Given the description of an element on the screen output the (x, y) to click on. 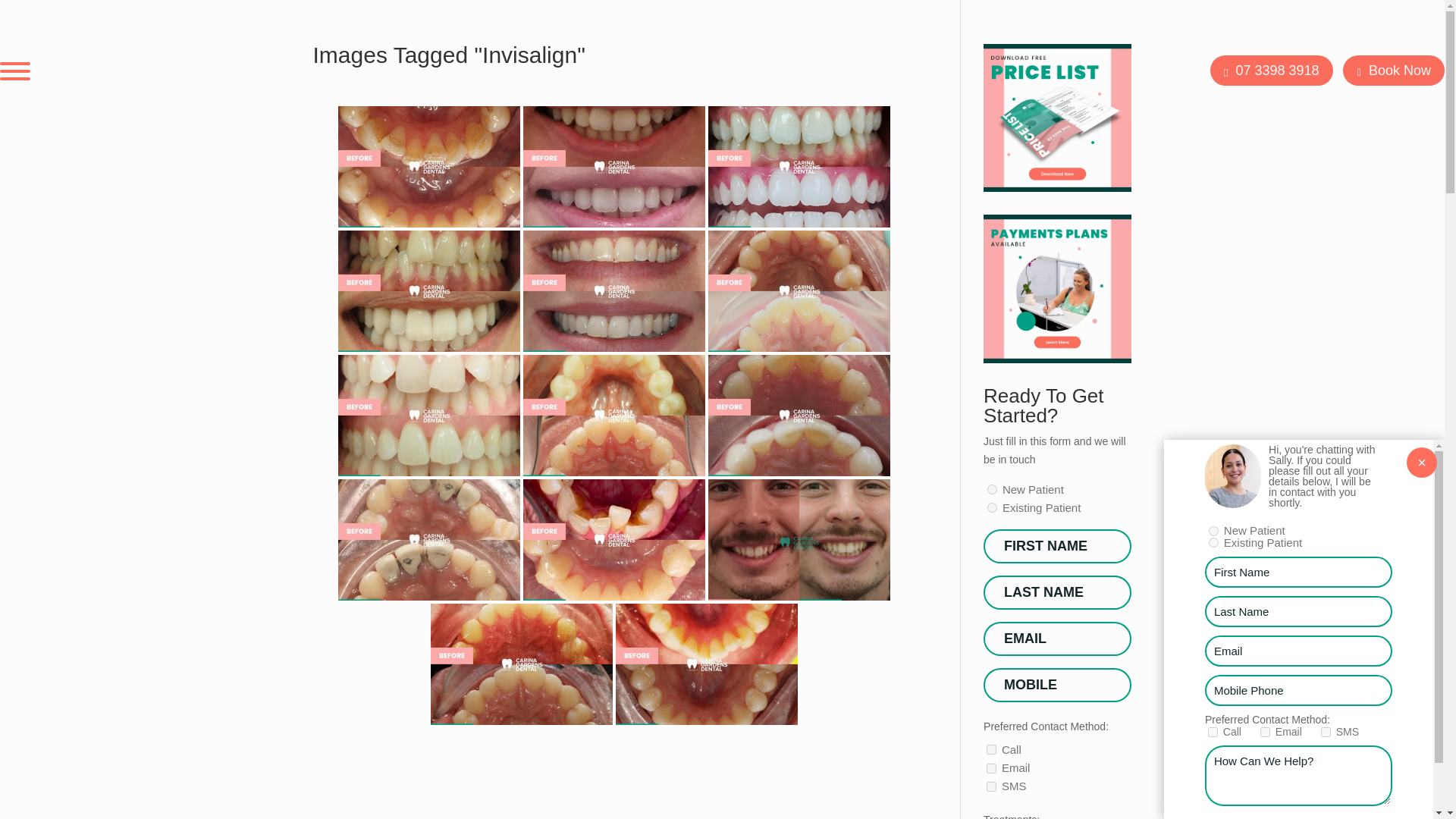
Courtney of Clayfield Invisalign Makeover (428, 414)
Audrey of Hamilton Invisalign Makeover (798, 166)
Clare of Carina Smile Academy Treatment (613, 291)
SMS (991, 786)
Audrey of Hamilton Invisalign Makeover (613, 166)
Beck of Carindale Invisalign Makeover (428, 291)
Clare of Carina Smile Academy Treatment (798, 291)
New Patient (992, 489)
Existing Patient (992, 507)
Call (991, 749)
Anuk of Carina Invisalign Makeover (428, 166)
Dane of Camp Hill Invisalign Makeover (613, 414)
Email (991, 768)
Liza of Boondal Invisalign Makeover (798, 414)
